Given the description of an element on the screen output the (x, y) to click on. 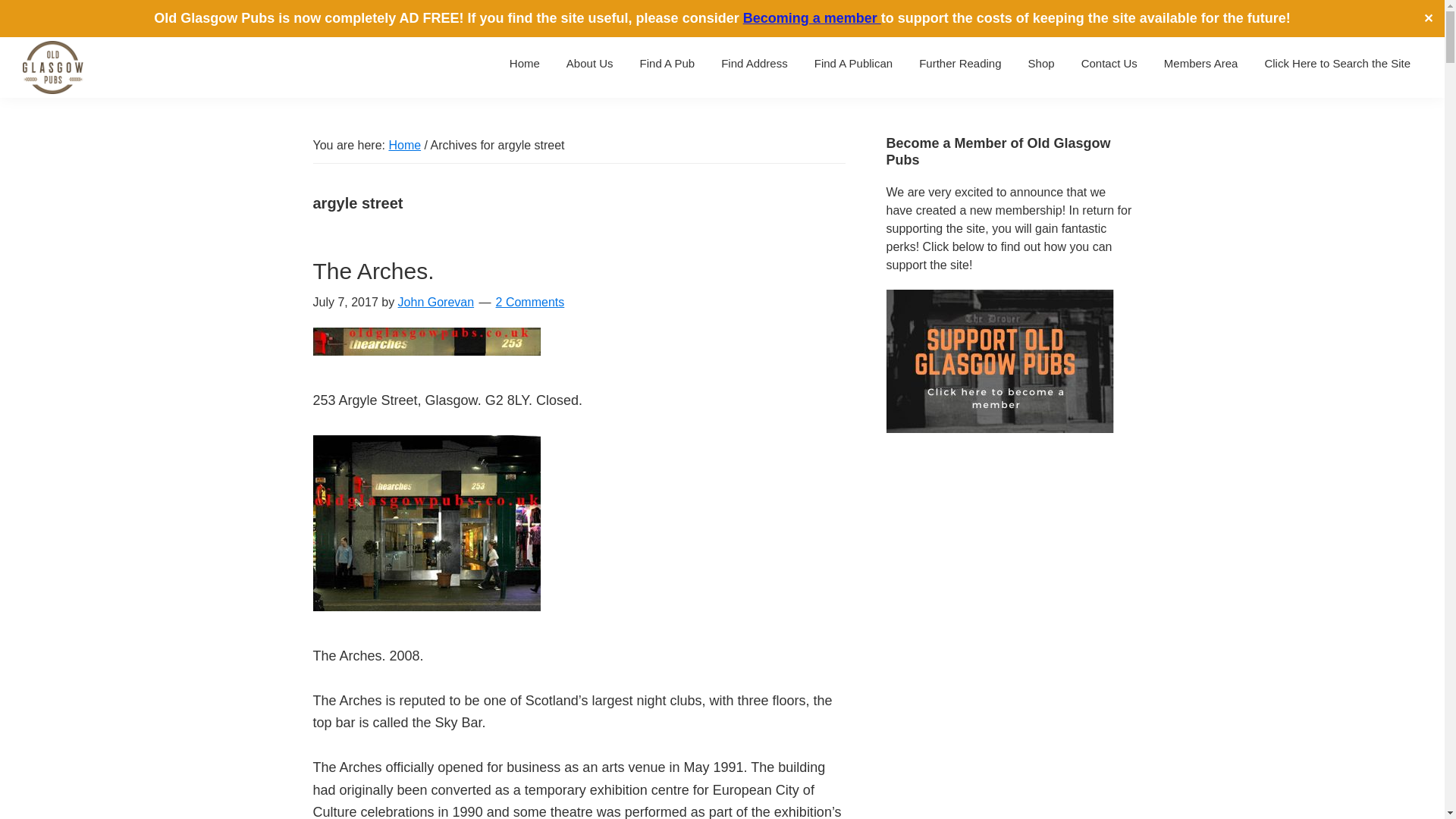
Find A Pub (667, 62)
Home (524, 62)
Home (404, 144)
Becoming a member (811, 17)
Shop (1040, 62)
Find Address (754, 62)
Click Here to Search the Site (1337, 62)
About Us (589, 62)
John Gorevan (435, 301)
Find A Publican (853, 62)
Contact Us (1109, 62)
Click Here to Search the Site (1337, 62)
Old Glasgow Pubs (54, 116)
2 Comments (530, 301)
